Given the description of an element on the screen output the (x, y) to click on. 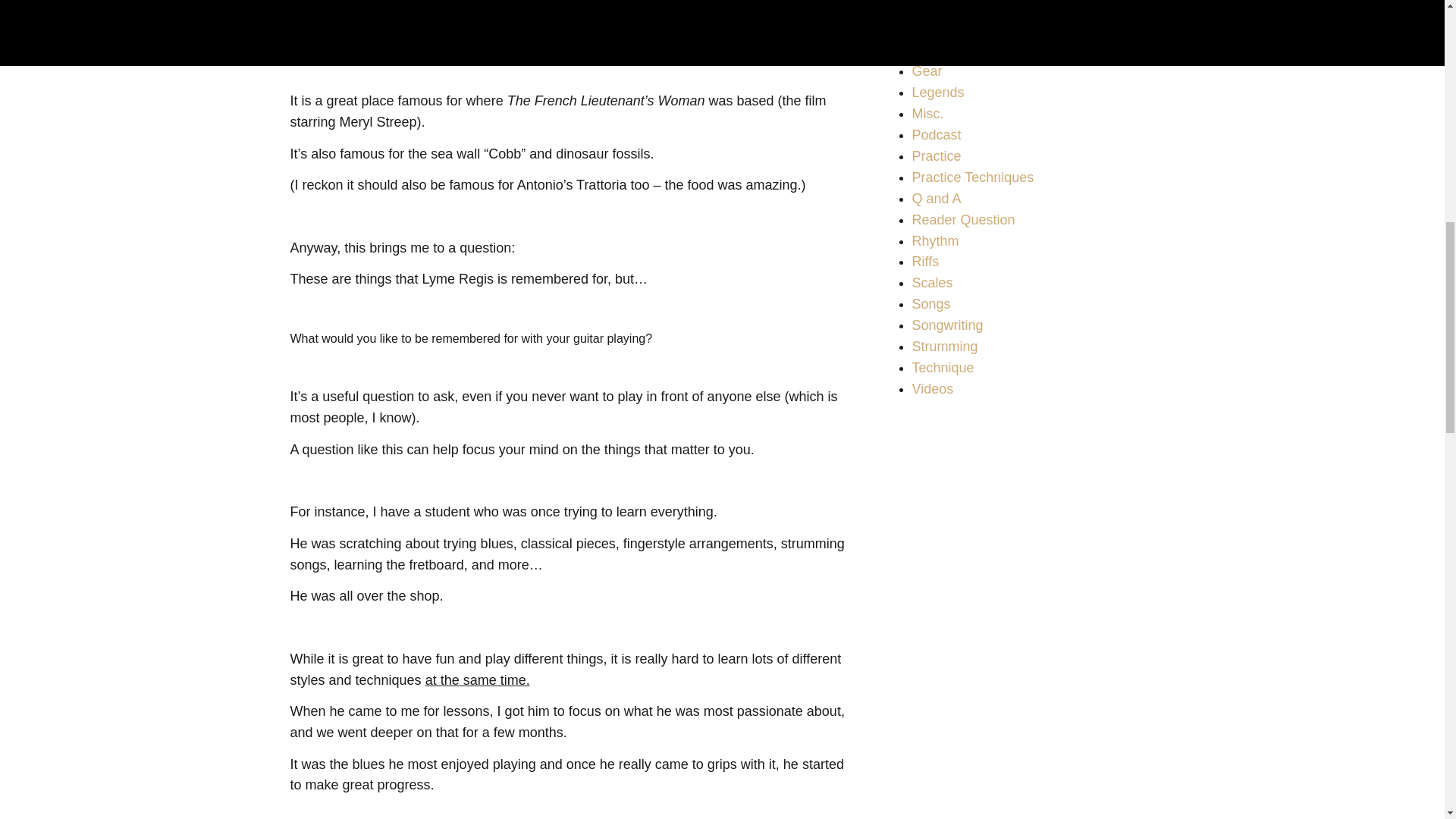
Songs (930, 304)
Strumming (943, 346)
Songwriting (946, 324)
Practice (935, 155)
Fretboard and Theory (977, 49)
Legends (937, 92)
Reader Question (962, 219)
Technique (942, 367)
Practice Techniques (972, 177)
Q and A (935, 198)
